Given the description of an element on the screen output the (x, y) to click on. 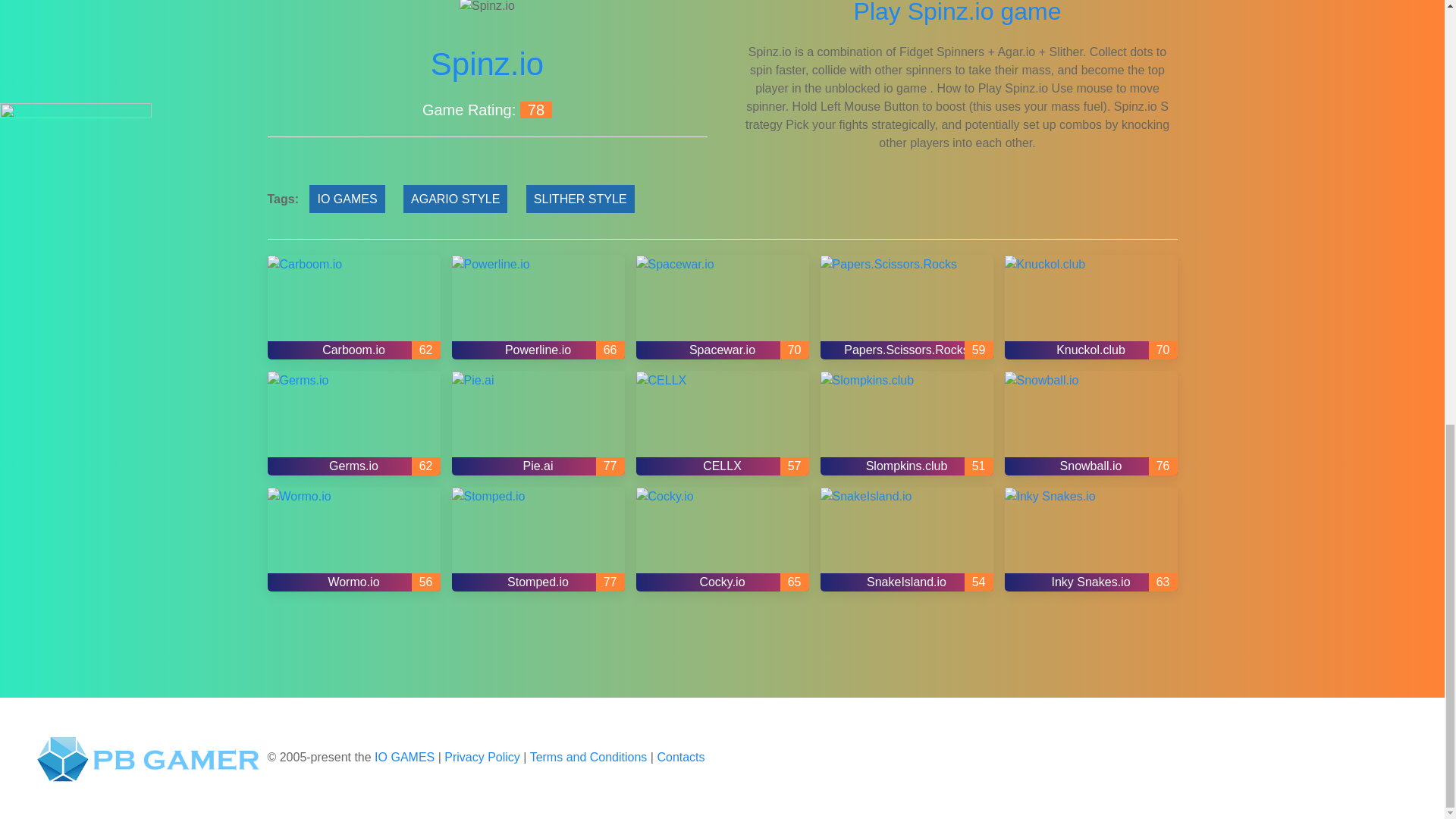
Germs.io (352, 423)
Inky Snakes.io (1090, 538)
Slompkins.club (906, 423)
Carboom.io (352, 306)
Cocky.io (721, 538)
CELLX (721, 423)
Wormo.io (352, 538)
Stomped.io (537, 538)
Snowball.io (1090, 423)
Spacewar.io (721, 306)
